Given the description of an element on the screen output the (x, y) to click on. 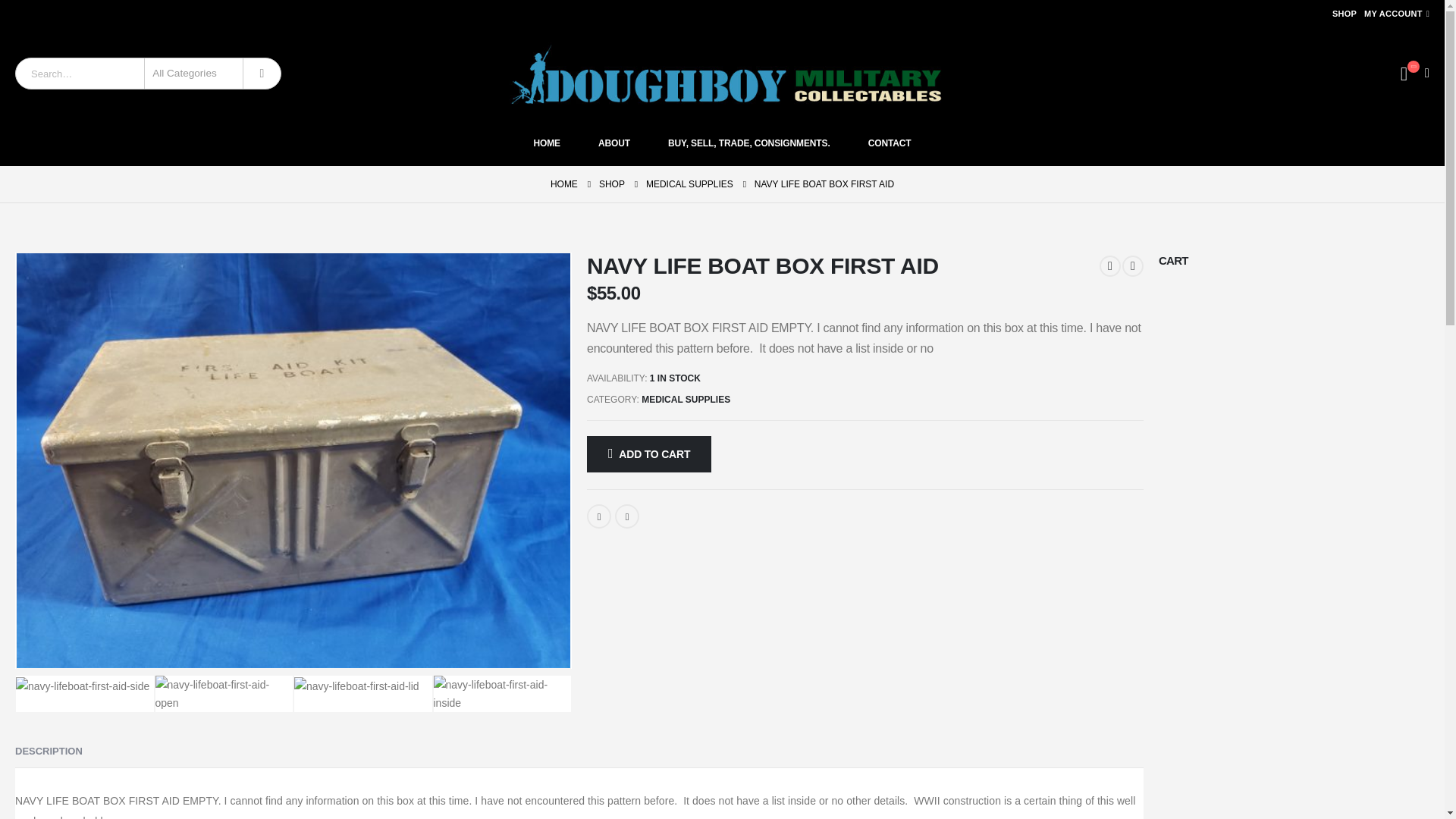
SHOP (1343, 13)
ADD TO CART (648, 453)
MEDICAL SUPPLIES (686, 399)
HOME (546, 143)
Facebook (598, 516)
Facebook (598, 516)
Search (262, 73)
HOME (564, 184)
SHOP (611, 184)
BUY, SELL, TRADE, CONSIGNMENTS. (748, 143)
